Given the description of an element on the screen output the (x, y) to click on. 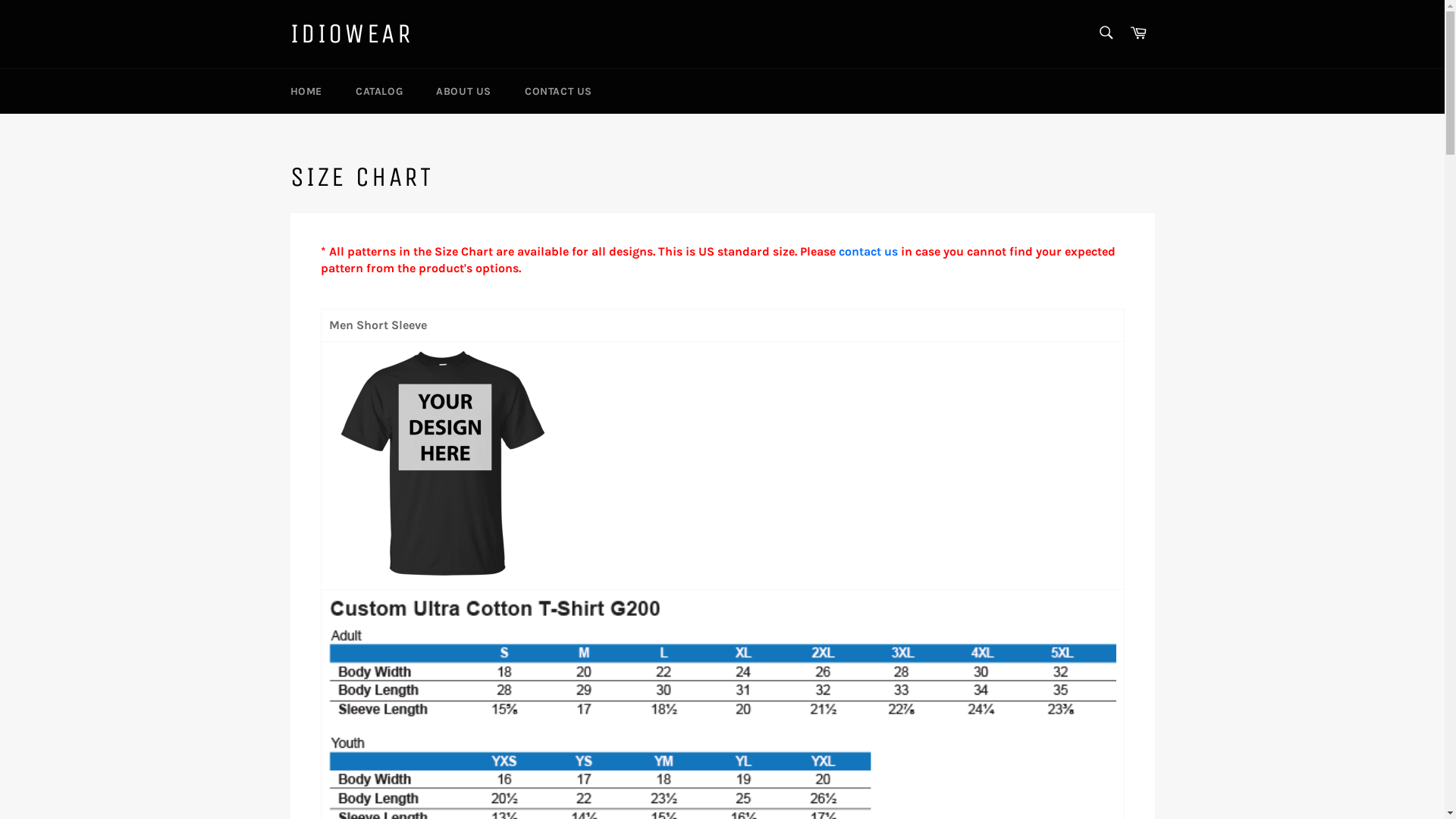
CATALOG Element type: text (378, 90)
ABOUT US Element type: text (463, 90)
CONTACT US Element type: text (558, 90)
HOME Element type: text (305, 90)
Cart Element type: text (1138, 33)
IDIOWEAR Element type: text (350, 34)
Search Element type: text (1105, 32)
contact us Element type: text (867, 251)
